Given the description of an element on the screen output the (x, y) to click on. 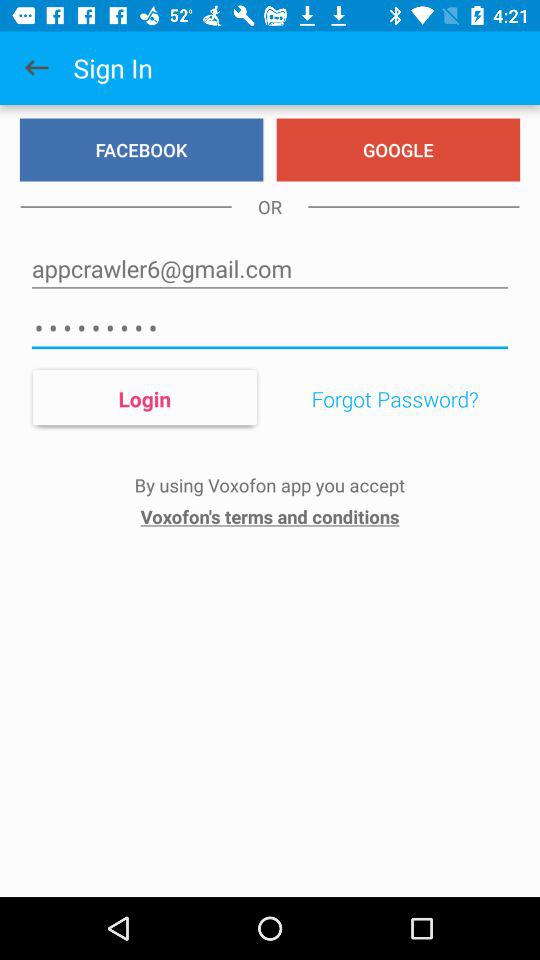
jump to login (144, 398)
